Given the description of an element on the screen output the (x, y) to click on. 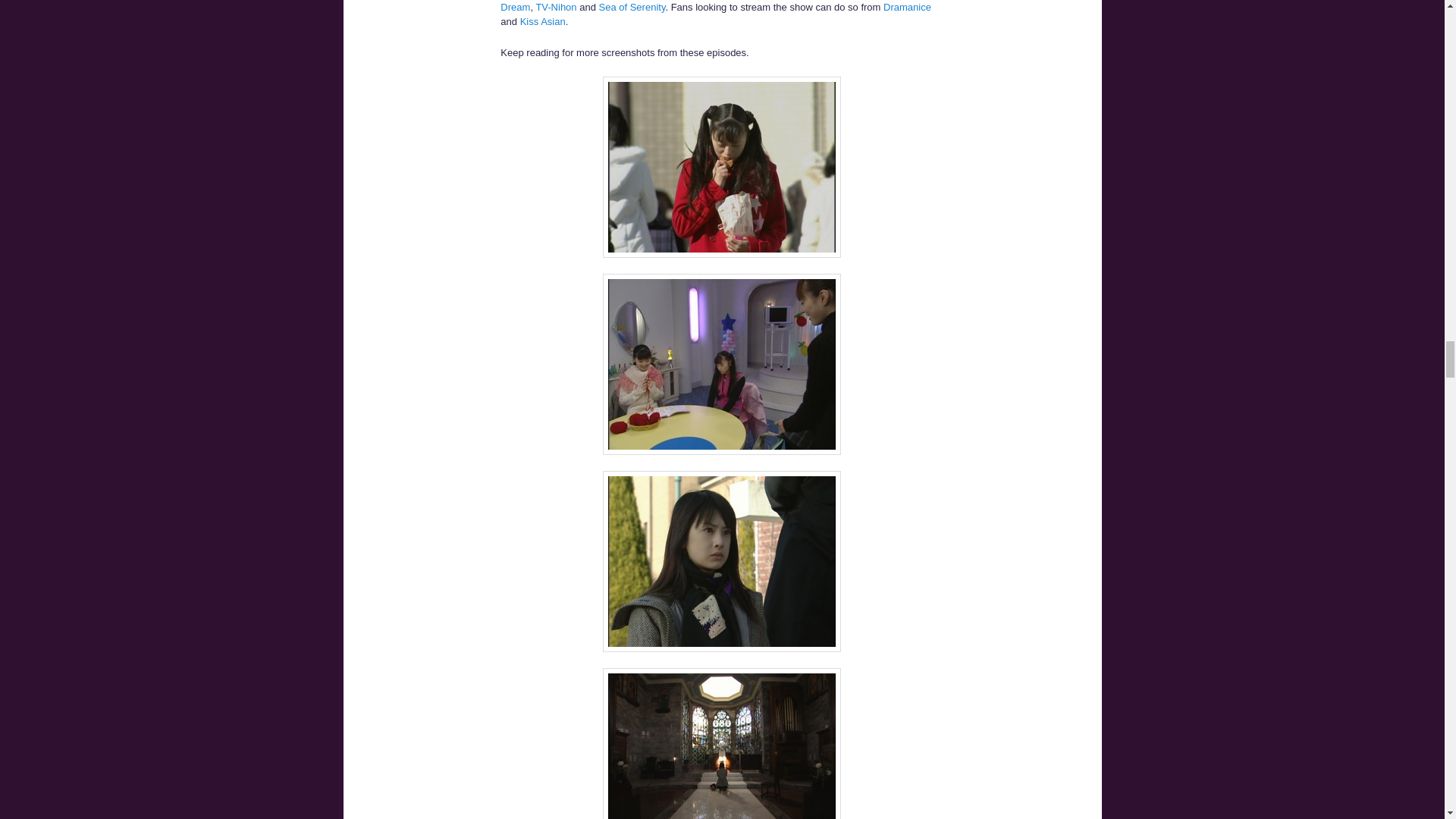
Miss Dream (721, 6)
Dramanice (907, 7)
Sea of Serenity (631, 7)
Dramanice (907, 7)
Kiss Asian (542, 21)
Miss Dream (721, 6)
TV-Nihon (555, 7)
TV-Nihon (555, 7)
Sea of Serenity (631, 7)
